Given the description of an element on the screen output the (x, y) to click on. 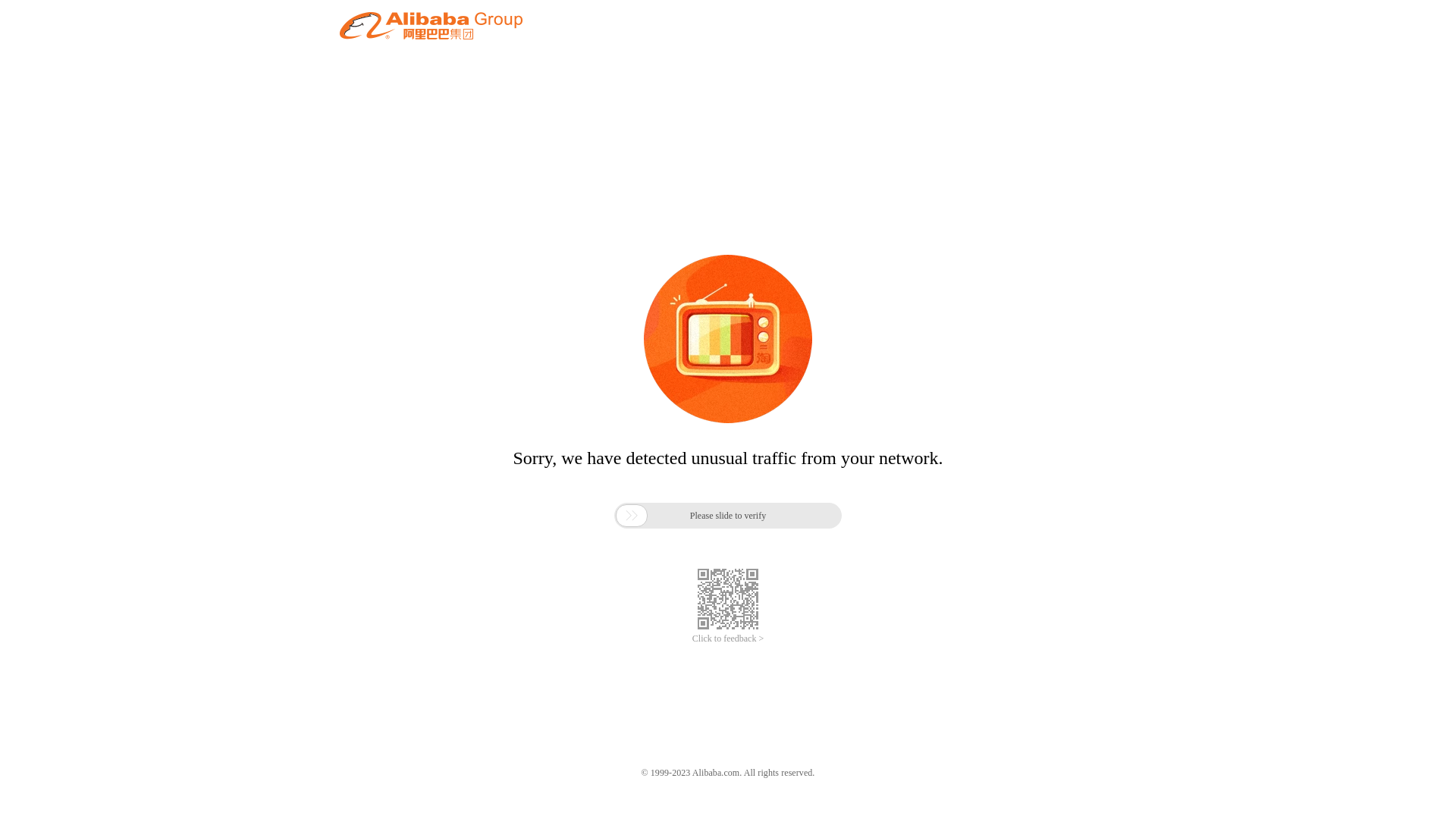
Click to feedback > Element type: text (727, 638)
